Given the description of an element on the screen output the (x, y) to click on. 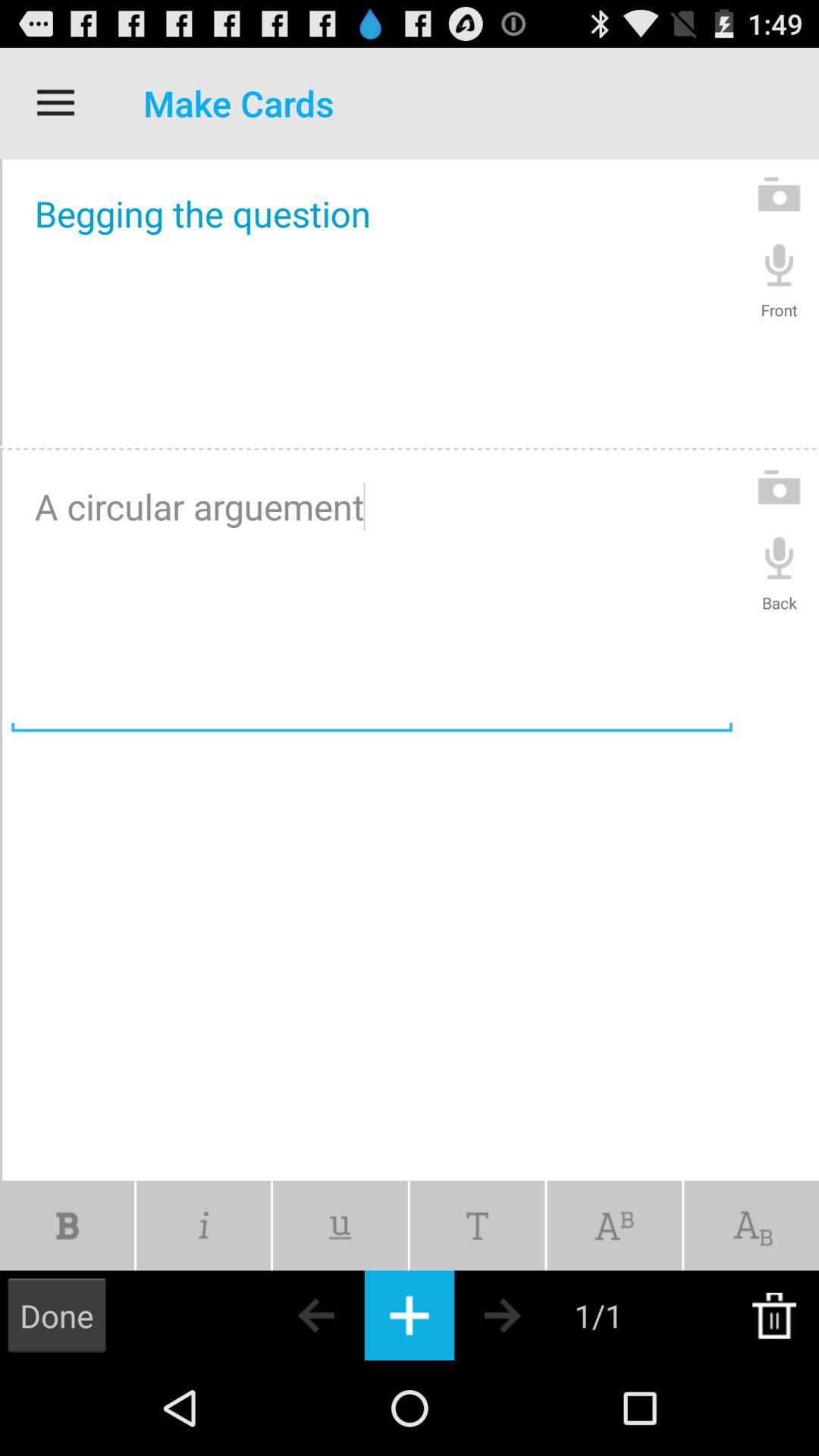
underline text (340, 1225)
